Given the description of an element on the screen output the (x, y) to click on. 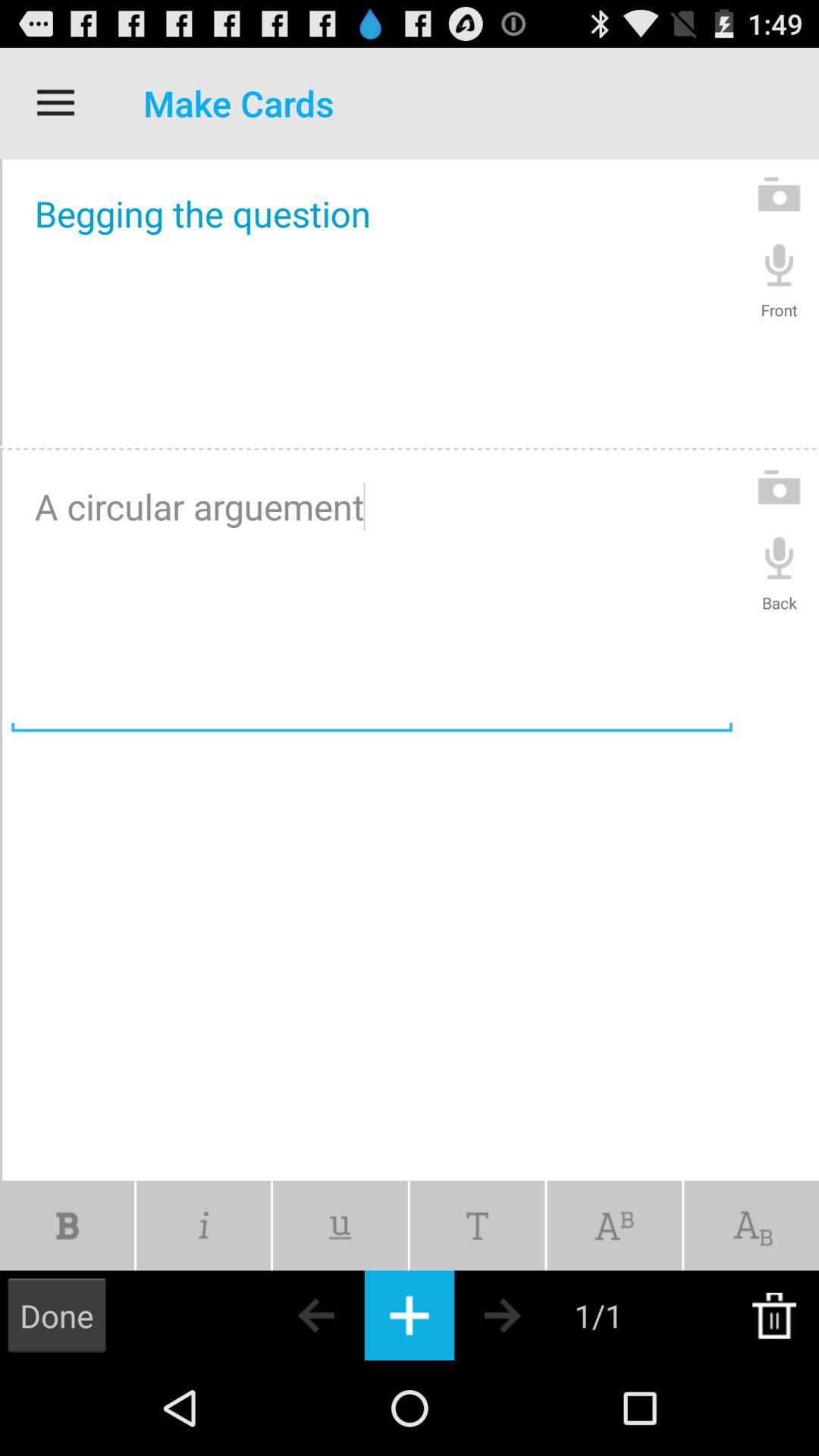
underline text (340, 1225)
